Given the description of an element on the screen output the (x, y) to click on. 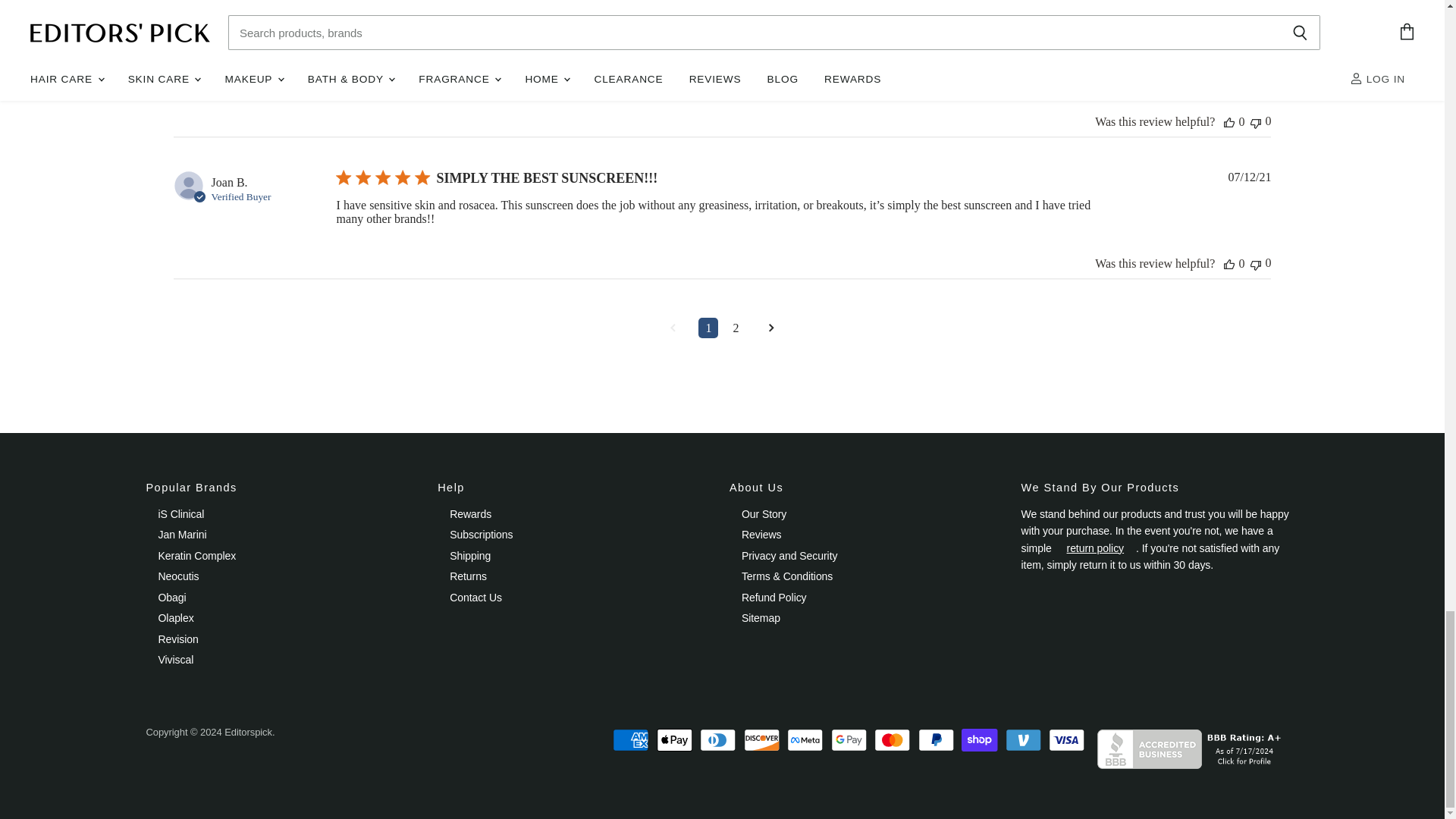
Returns (1095, 547)
Joan B. (229, 182)
Adrienne J. (238, 59)
